Given the description of an element on the screen output the (x, y) to click on. 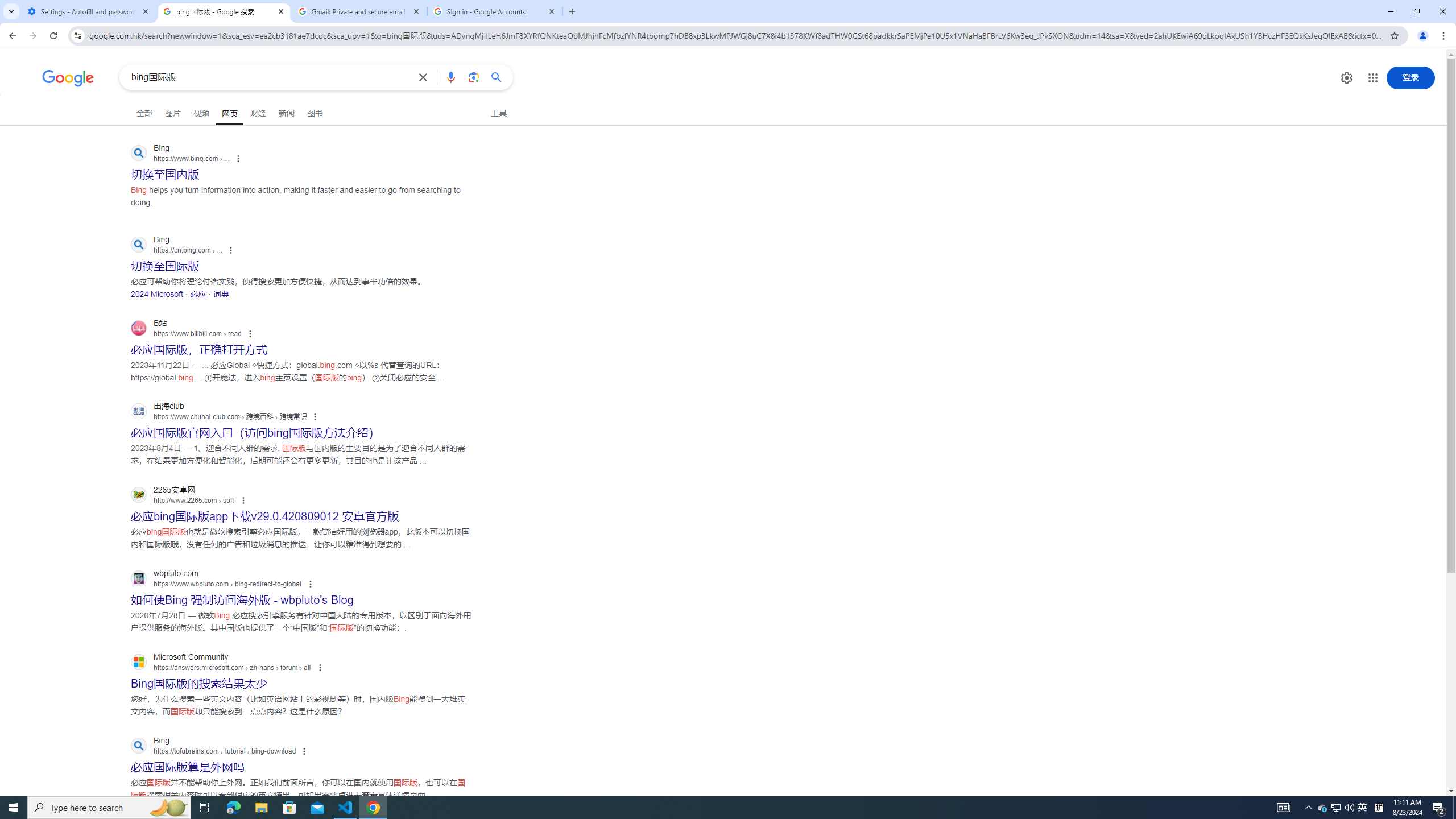
Bookmark this tab (1393, 35)
View site information (77, 35)
Back (10, 35)
Sign in - Google Accounts (494, 11)
Reload (52, 35)
Chrome (1445, 35)
2024 Microsoft (157, 293)
New Tab (571, 11)
